Given the description of an element on the screen output the (x, y) to click on. 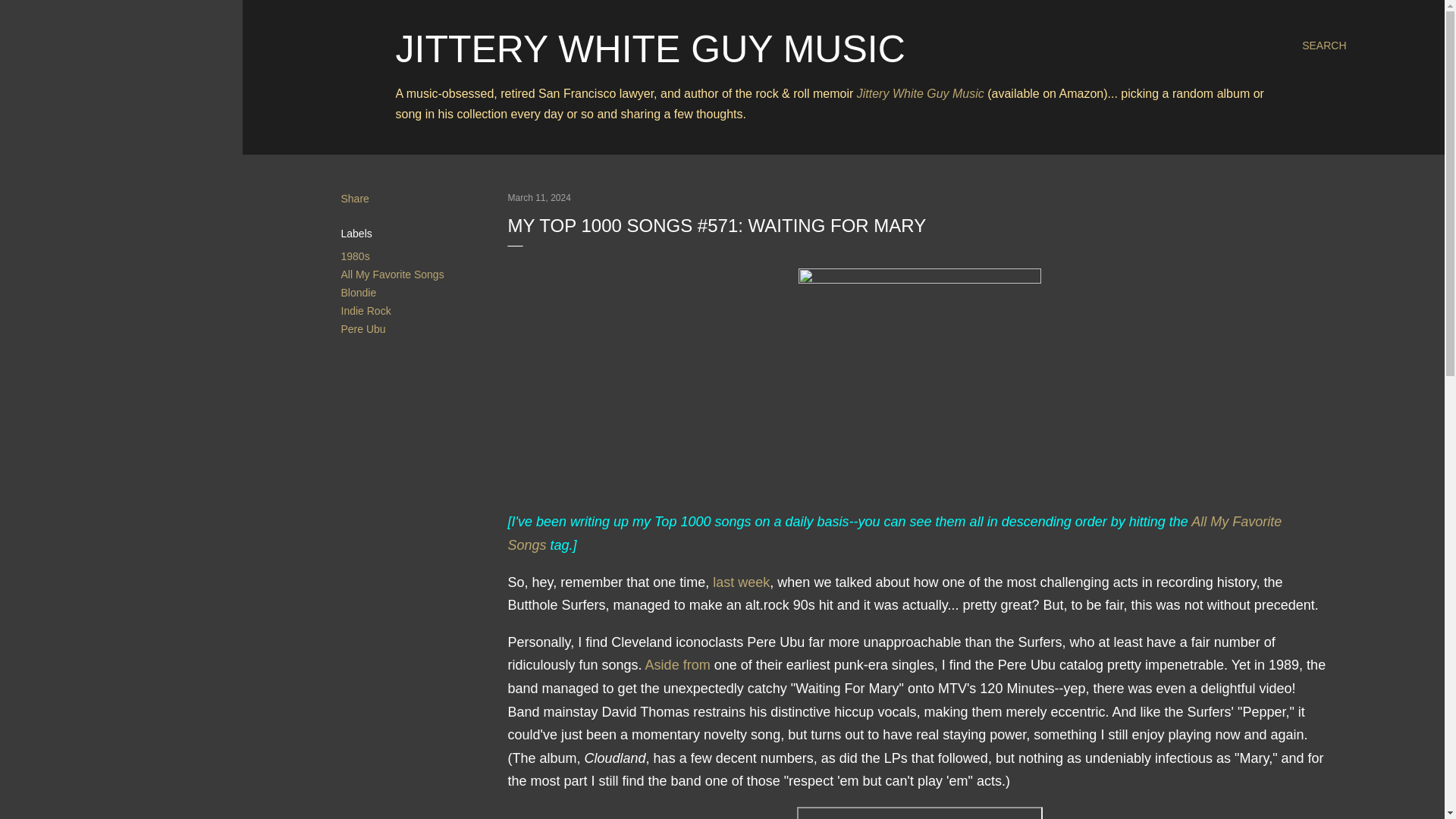
1980s (354, 256)
SEARCH (1323, 45)
permanent link (539, 197)
last week (741, 581)
Aside from (677, 664)
All My Favorite Songs (895, 533)
JITTERY WHITE GUY MUSIC (650, 48)
Jittery White Guy Music (920, 92)
Indie Rock (365, 310)
Pere Ubu (362, 328)
